Given the description of an element on the screen output the (x, y) to click on. 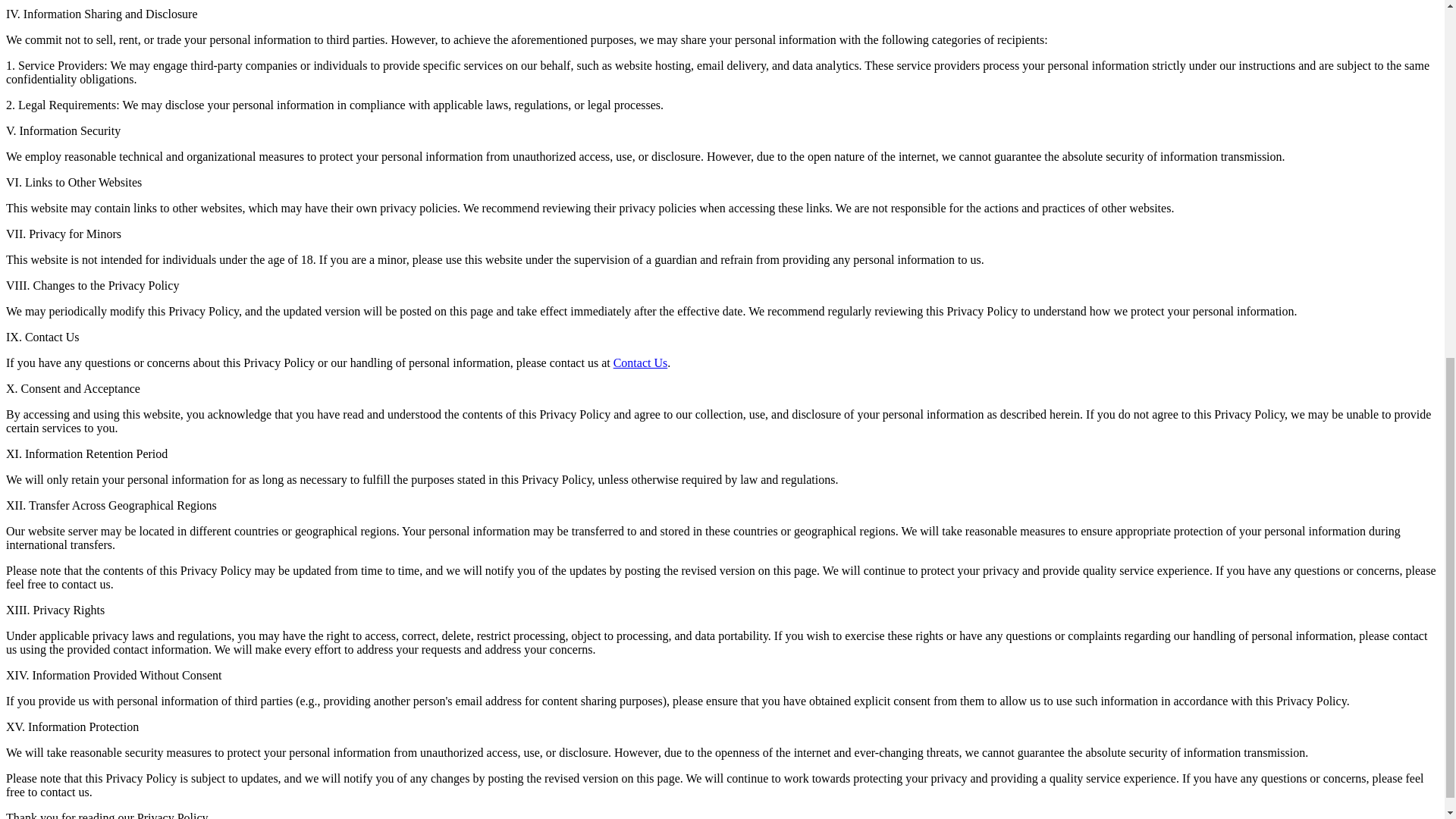
Contact Us (640, 362)
